Given the description of an element on the screen output the (x, y) to click on. 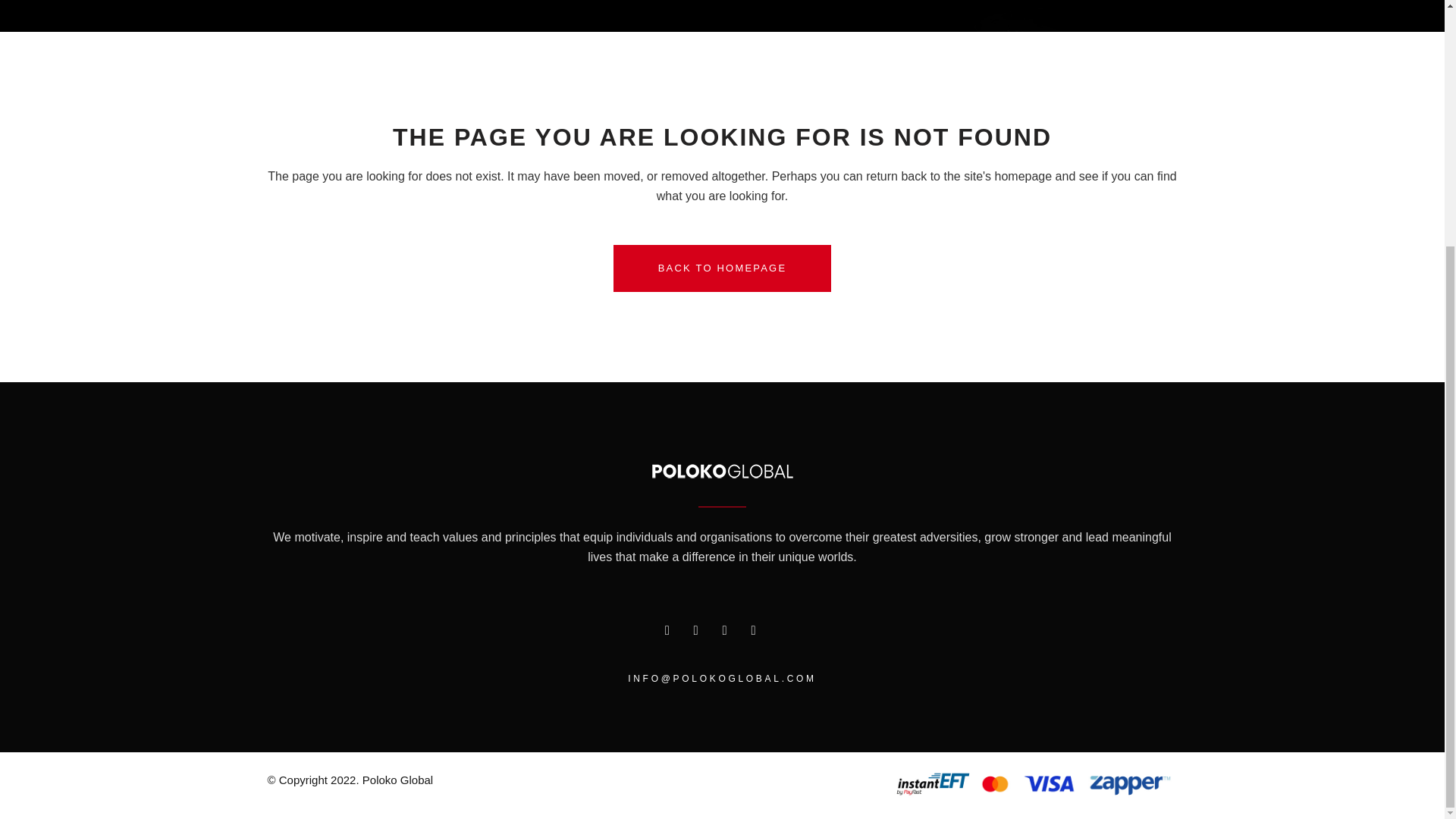
BACK TO HOMEPAGE (721, 267)
